Given the description of an element on the screen output the (x, y) to click on. 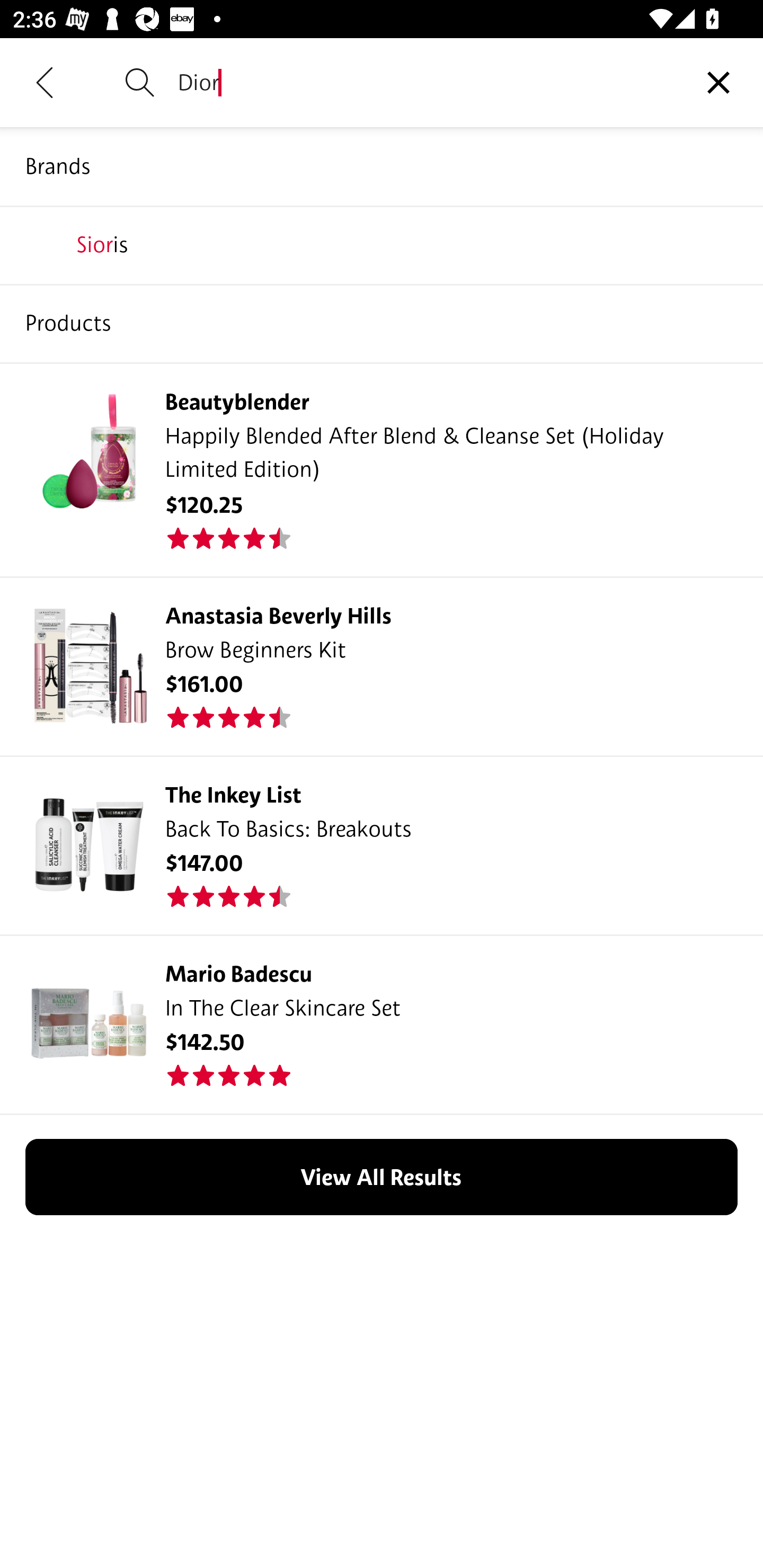
Navigate up (44, 82)
Clear query (718, 81)
Dior (425, 82)
sephora collection (381, 244)
the ordinary (381, 322)
View All Results (381, 1176)
